Given the description of an element on the screen output the (x, y) to click on. 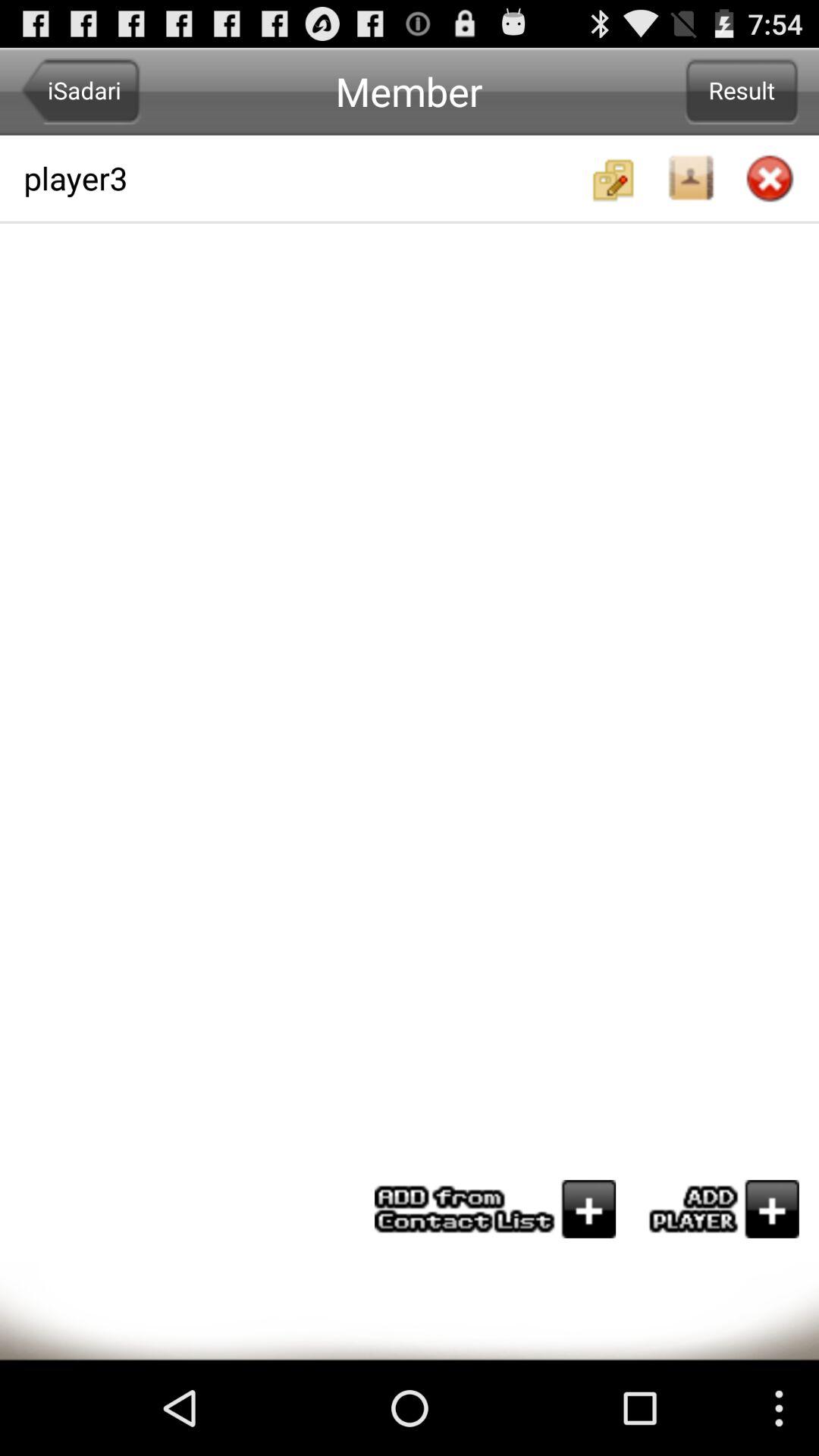
go to closed option (770, 179)
